Given the description of an element on the screen output the (x, y) to click on. 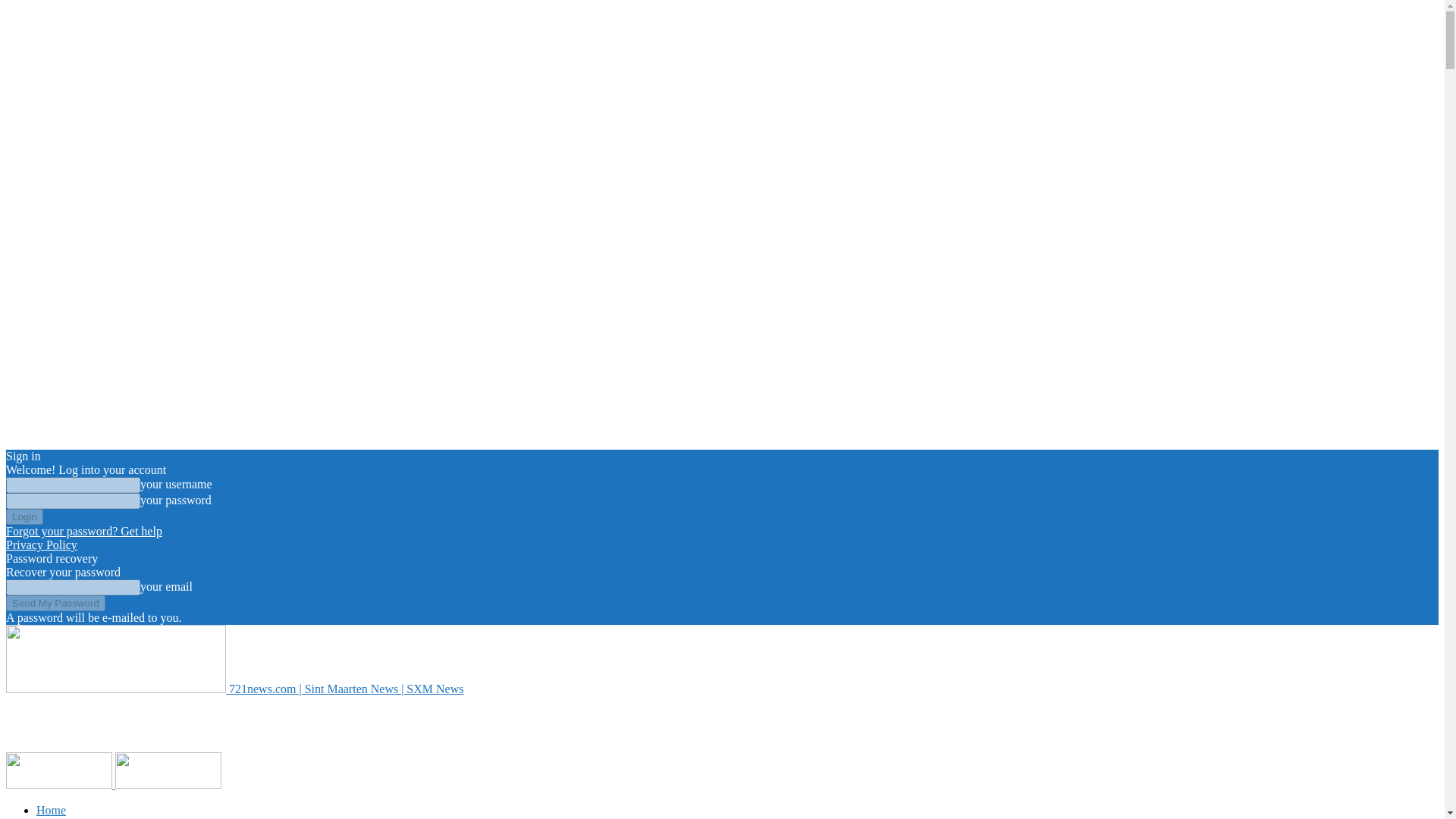
Forgot your password? Get help (83, 530)
Send My Password (54, 602)
Login (24, 516)
Privacy Policy (41, 544)
